Given the description of an element on the screen output the (x, y) to click on. 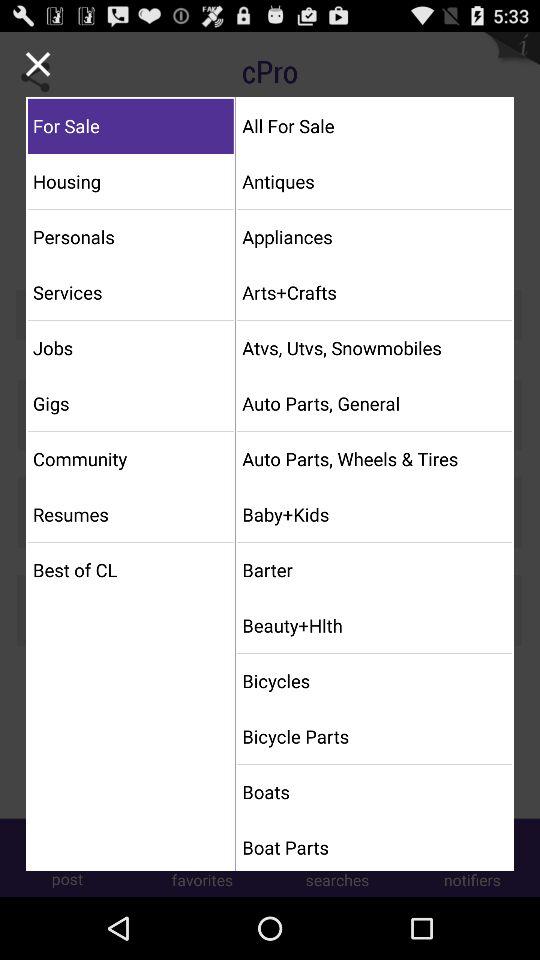
click item below boats icon (374, 847)
